Given the description of an element on the screen output the (x, y) to click on. 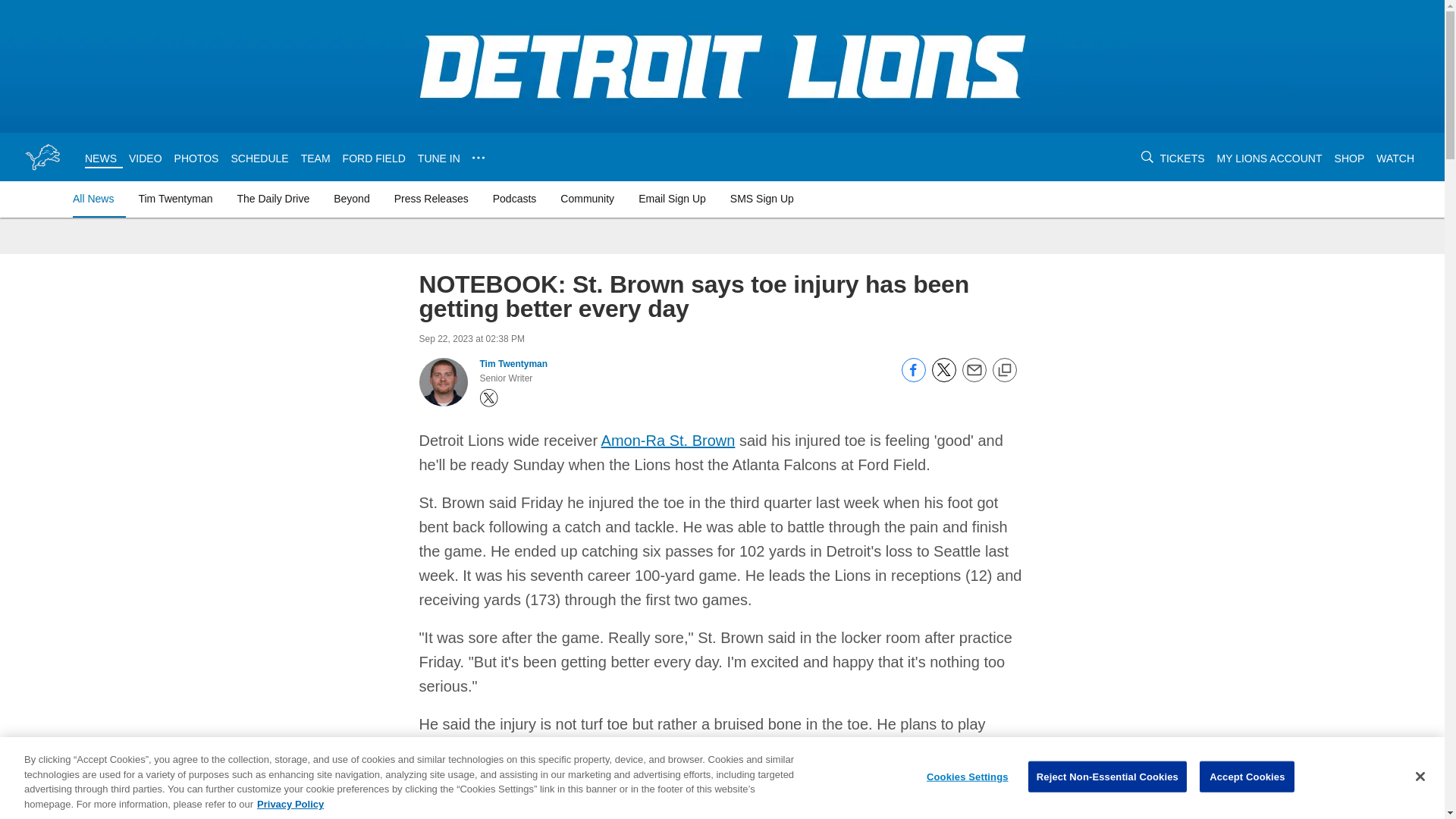
TUNE IN (438, 158)
PHOTOS (196, 158)
NEWS (100, 158)
VIDEO (145, 158)
... (477, 157)
TEAM (315, 158)
TEAM (315, 158)
Email Sign Up (671, 198)
SCHEDULE (259, 158)
Tim Twentyman (175, 198)
